Given the description of an element on the screen output the (x, y) to click on. 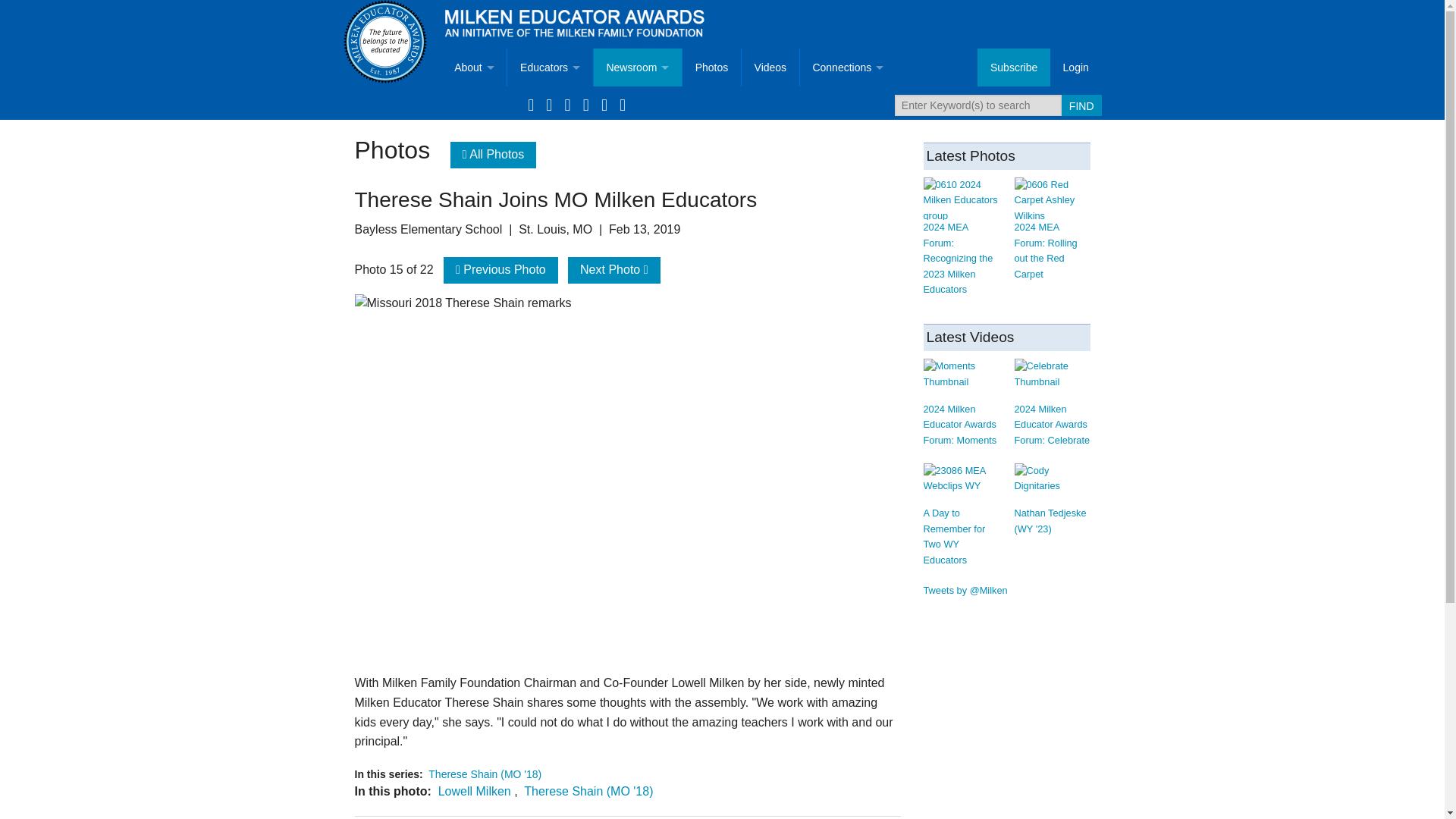
Go to the Staff (473, 370)
Videos (770, 67)
Quotes (847, 218)
Fact Sheet (473, 218)
Milestones (847, 143)
About (473, 67)
Go to the Goals (473, 143)
Photos (711, 67)
Go to the About (473, 67)
